Given the description of an element on the screen output the (x, y) to click on. 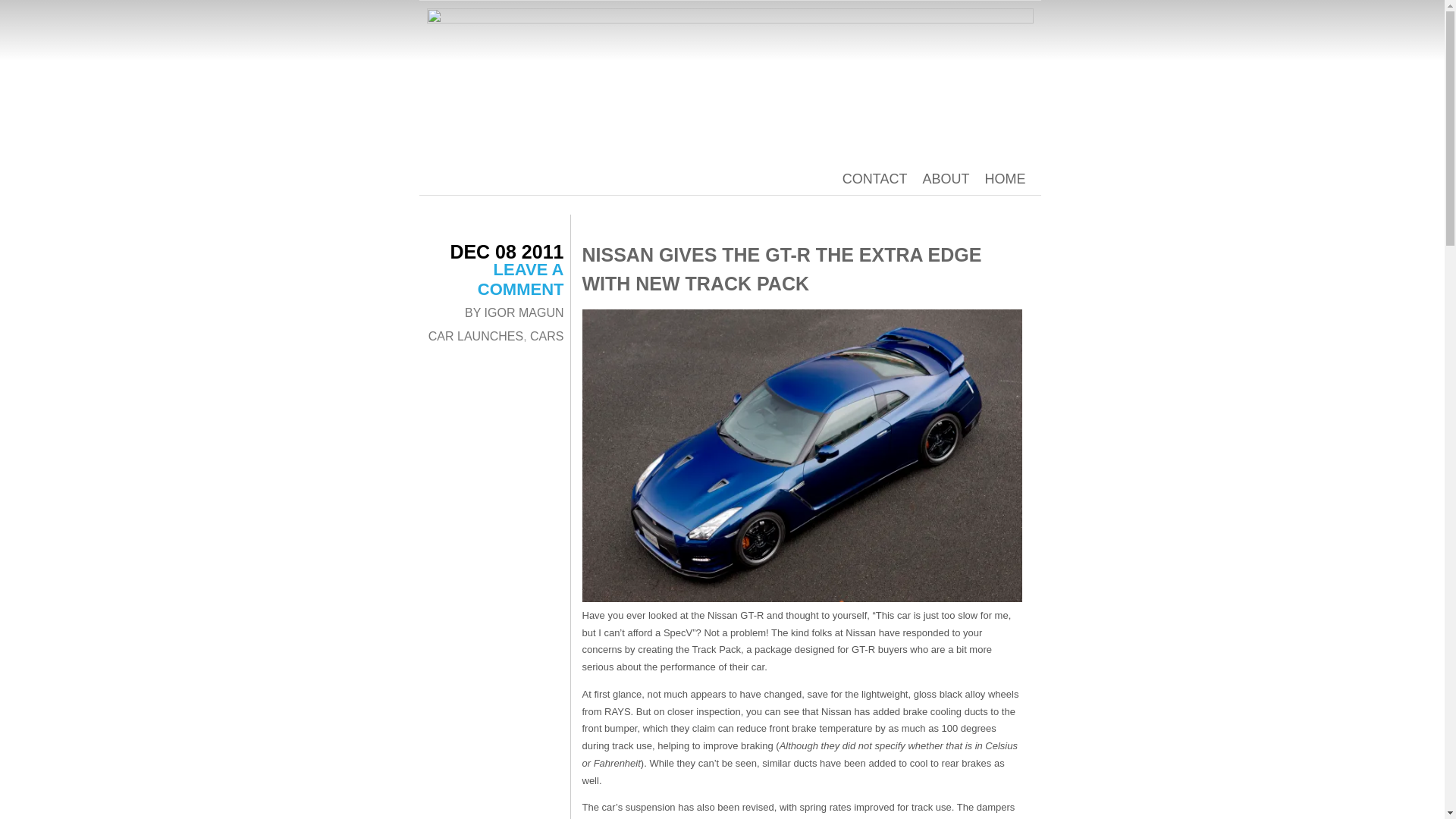
BY IGOR MAGUN (513, 312)
HOME (1004, 178)
ABOUT (945, 178)
CONTACT (875, 178)
Nissan GT-R Track Pack (802, 455)
LEAVE A COMMENT (520, 279)
DEC 08 2011 (506, 251)
CAR LAUNCHES (475, 336)
CARS (546, 336)
